Given the description of an element on the screen output the (x, y) to click on. 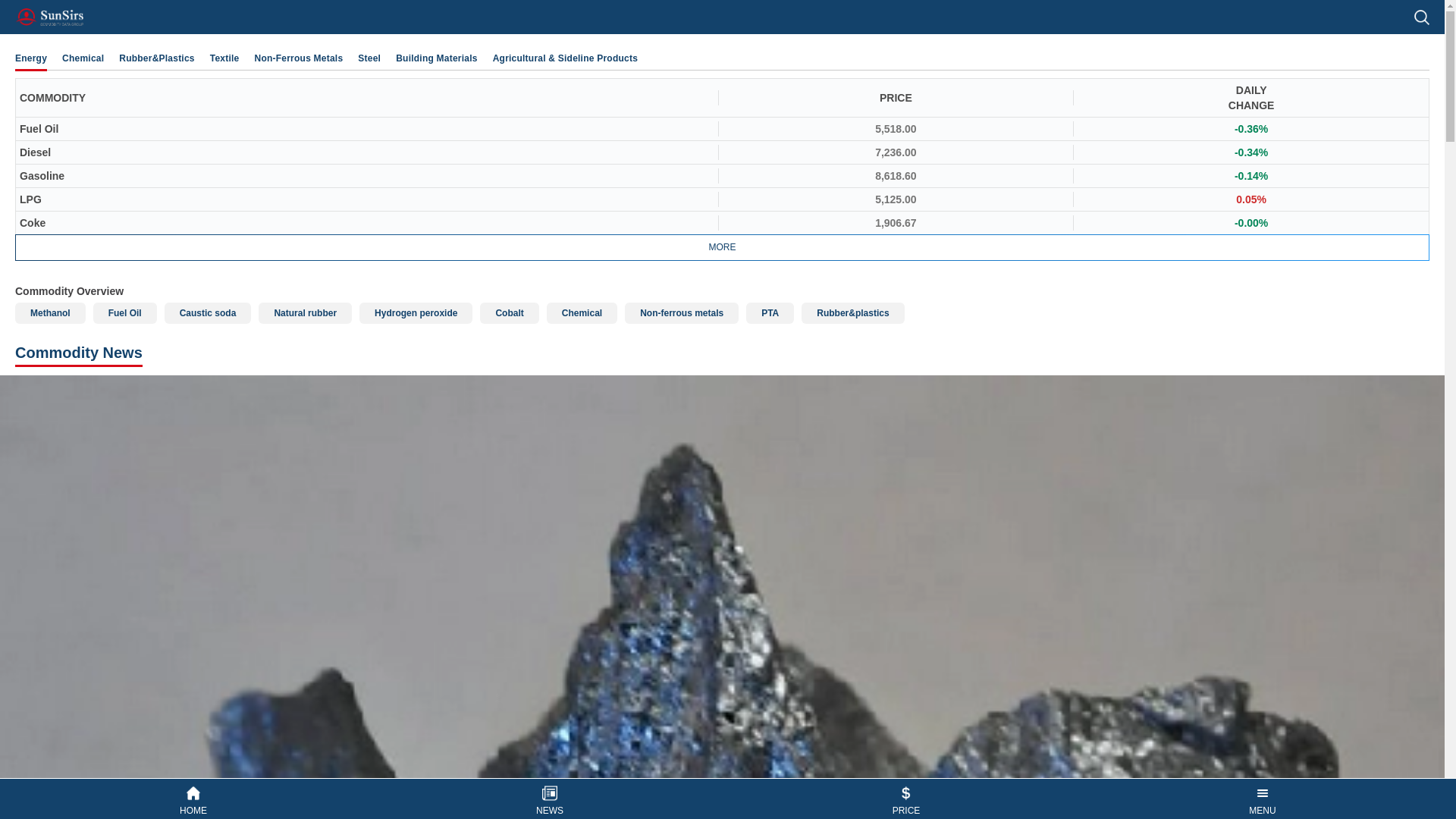
MORE (722, 247)
Energy (30, 58)
Non-ferrous metals (681, 312)
Methanol (49, 312)
PTA (769, 312)
Textile (224, 58)
Hydrogen peroxide (415, 312)
Building Materials (436, 58)
Non-Ferrous Metals (298, 58)
Caustic soda (207, 312)
Steel (369, 58)
Chemical (82, 58)
Chemical (582, 312)
Cobalt (509, 312)
Fuel Oil (125, 312)
